Given the description of an element on the screen output the (x, y) to click on. 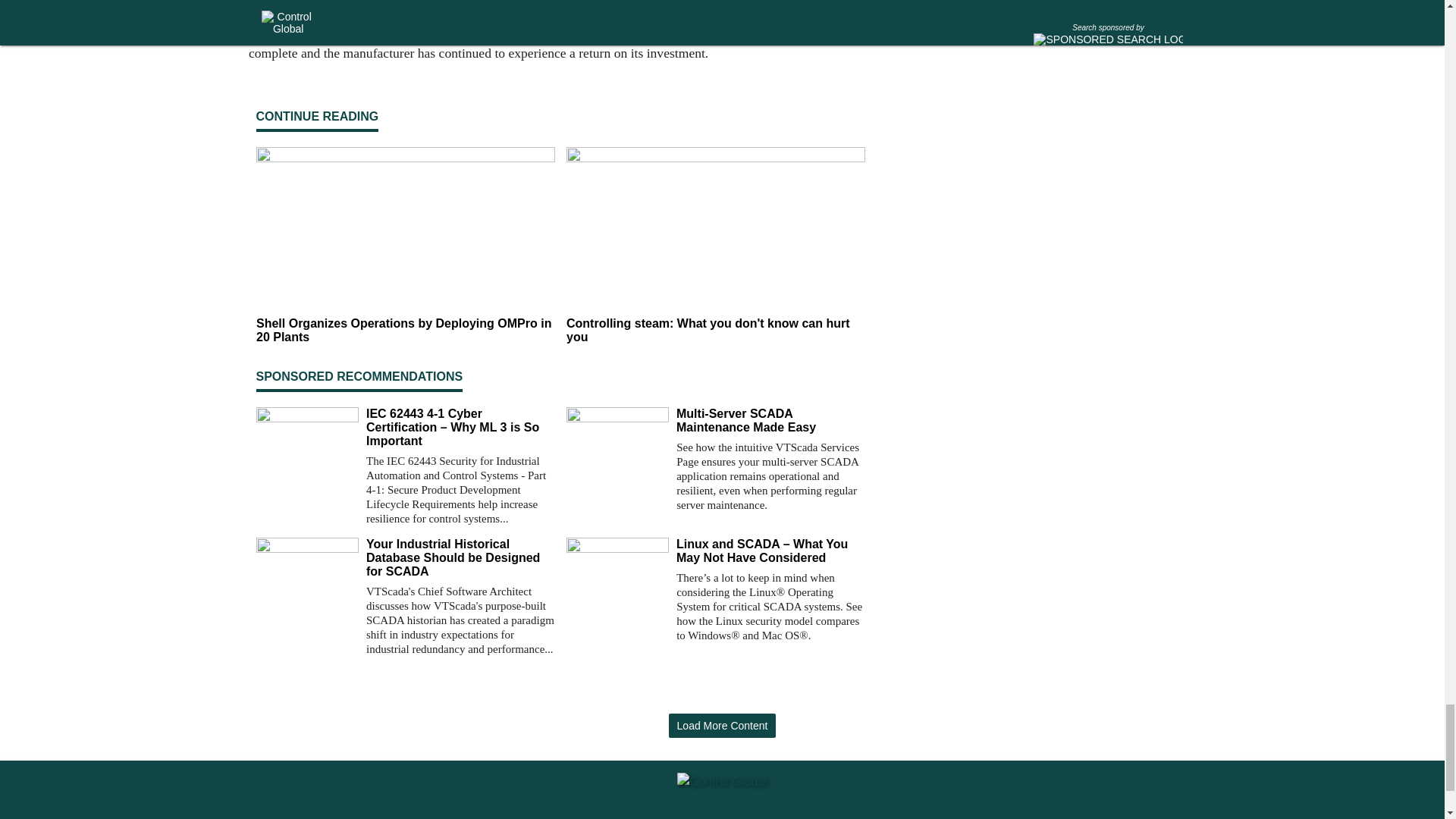
Shell Organizes Operations by Deploying OMPro in 20 Plants (405, 329)
Controlling steam: What you don't know can hurt you (715, 329)
Multi-Server SCADA Maintenance Made Easy (770, 420)
